Given the description of an element on the screen output the (x, y) to click on. 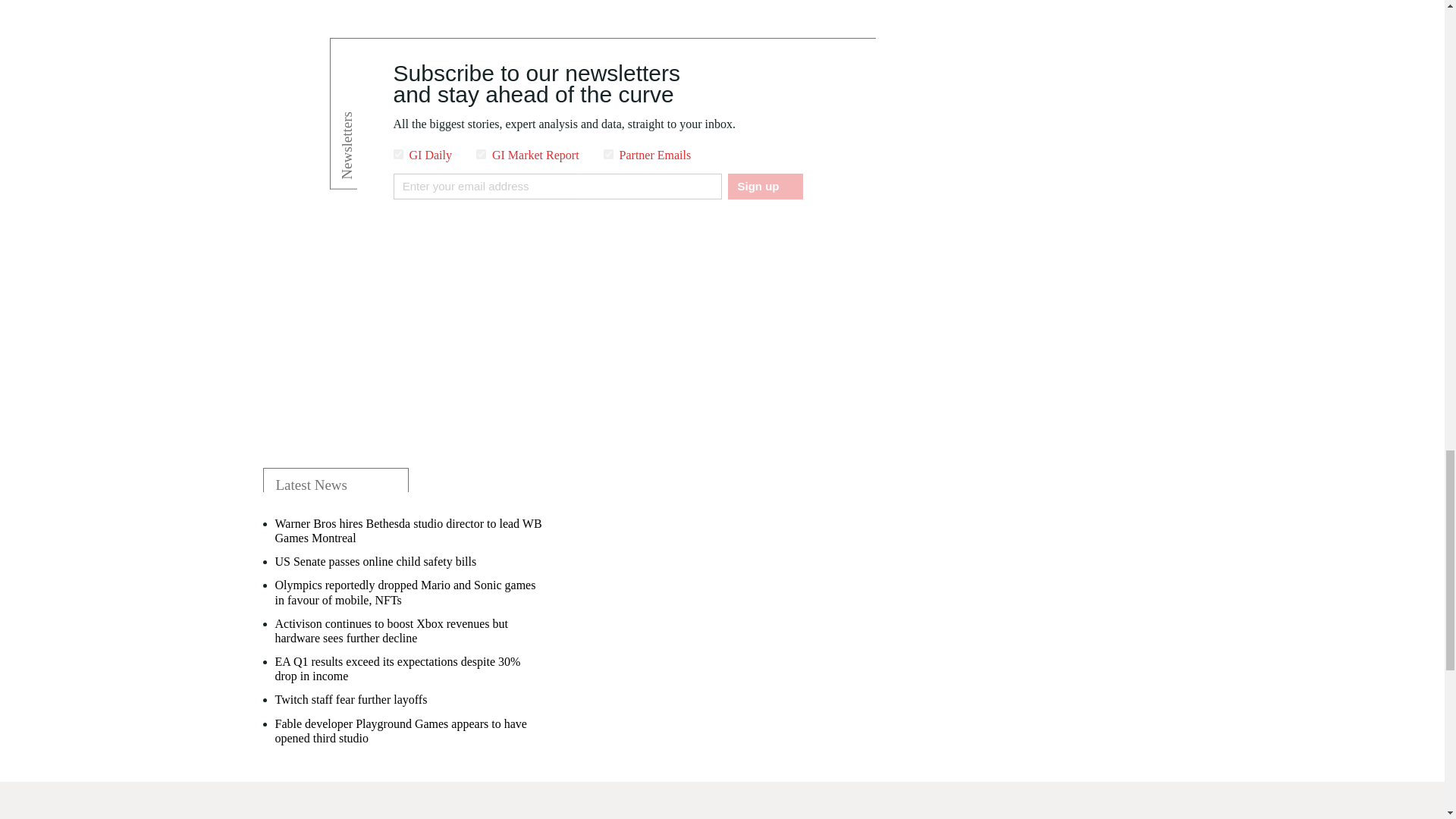
Intel announces layoffs of around 15,000 staff (386, 637)
on (398, 153)
Paradox Interactive delays Prison Architect 2 indefinitely (409, 568)
on (608, 153)
Roblox reports strong Q2 2024 as CFO steps down (398, 738)
Sign up (765, 186)
on (481, 153)
